Given the description of an element on the screen output the (x, y) to click on. 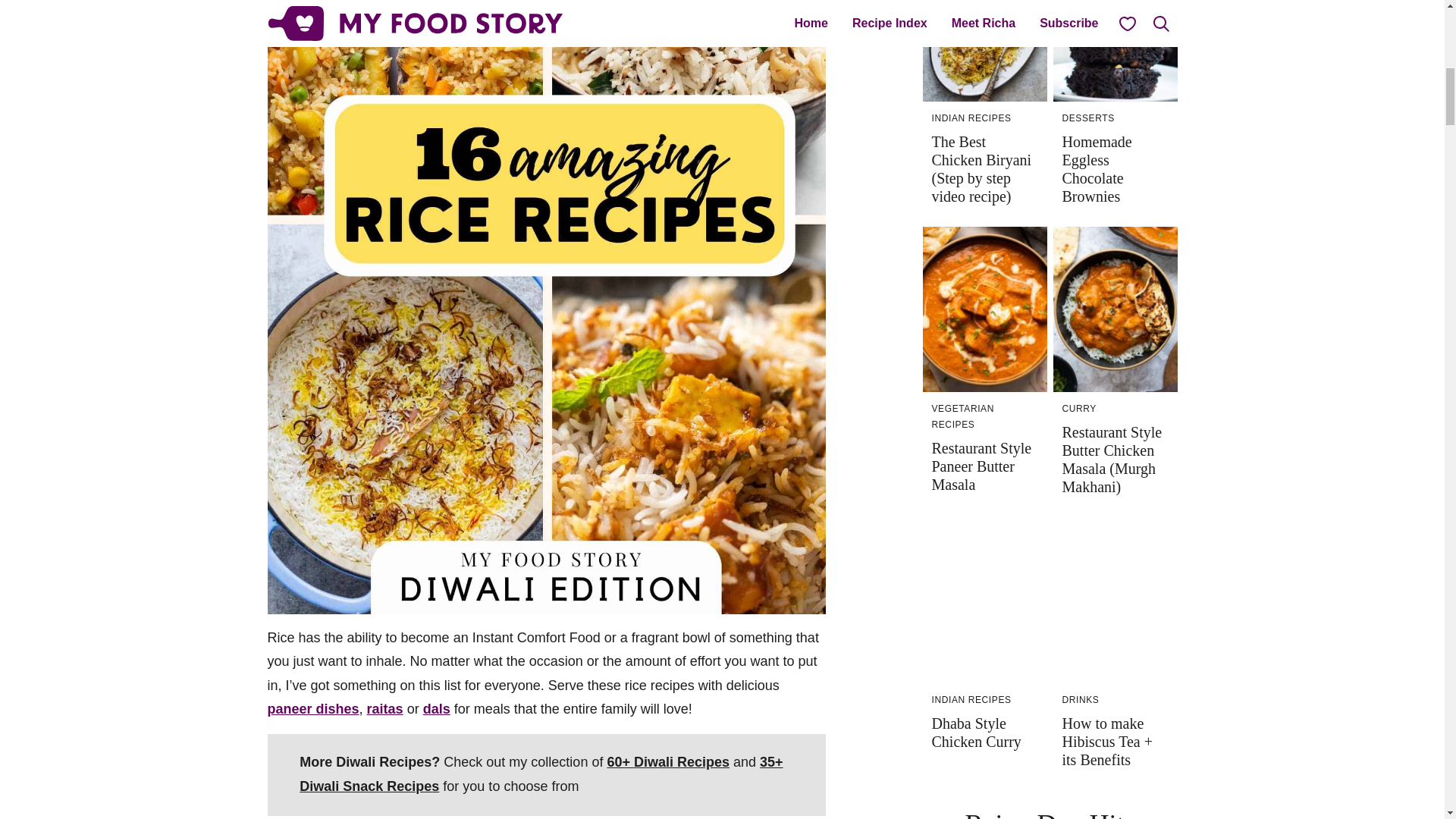
dals (436, 708)
paneer dishes (312, 708)
raitas (384, 708)
